Given the description of an element on the screen output the (x, y) to click on. 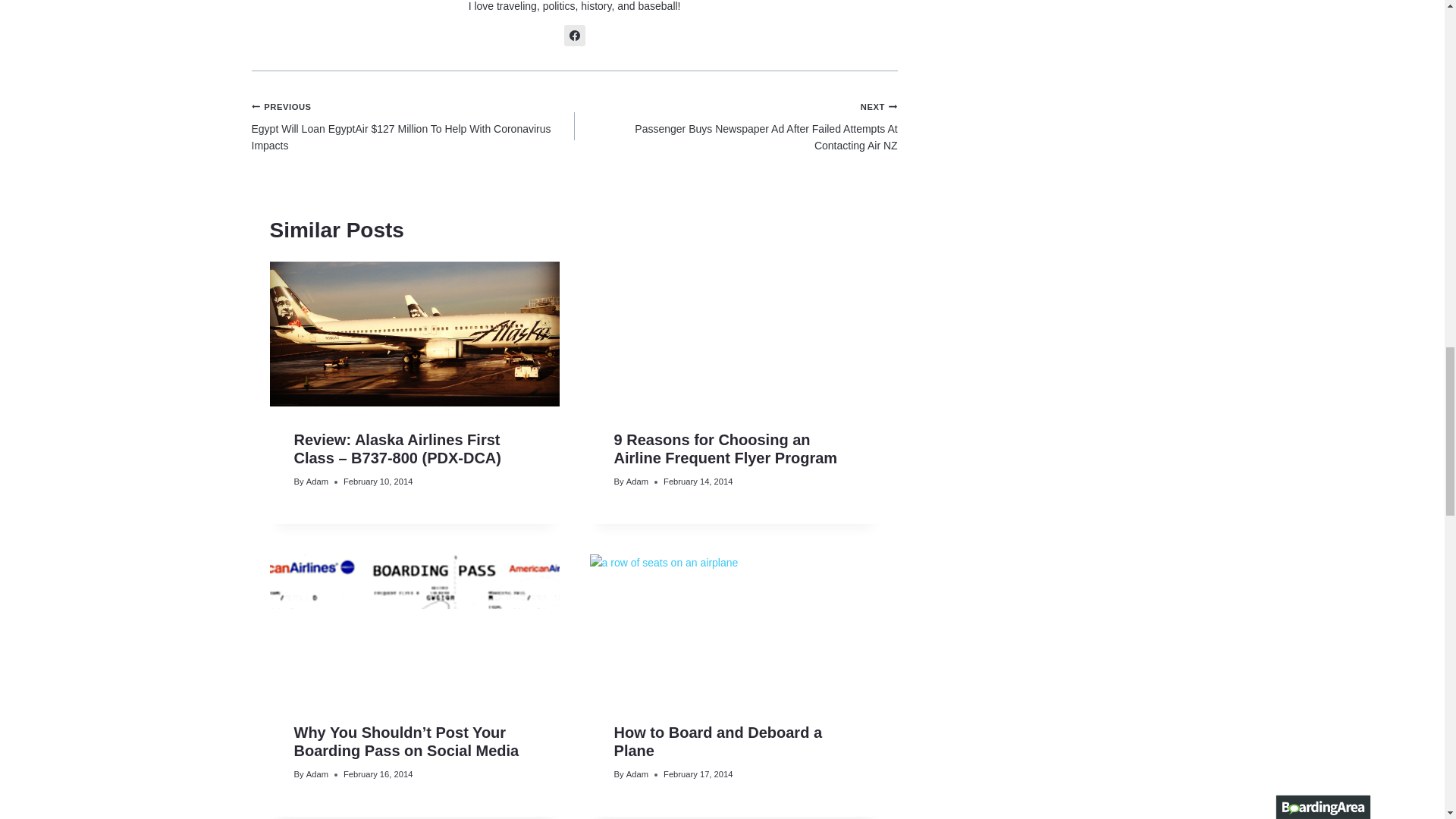
Adam (317, 481)
Follow Jonathan on Facebook (574, 35)
